Given the description of an element on the screen output the (x, y) to click on. 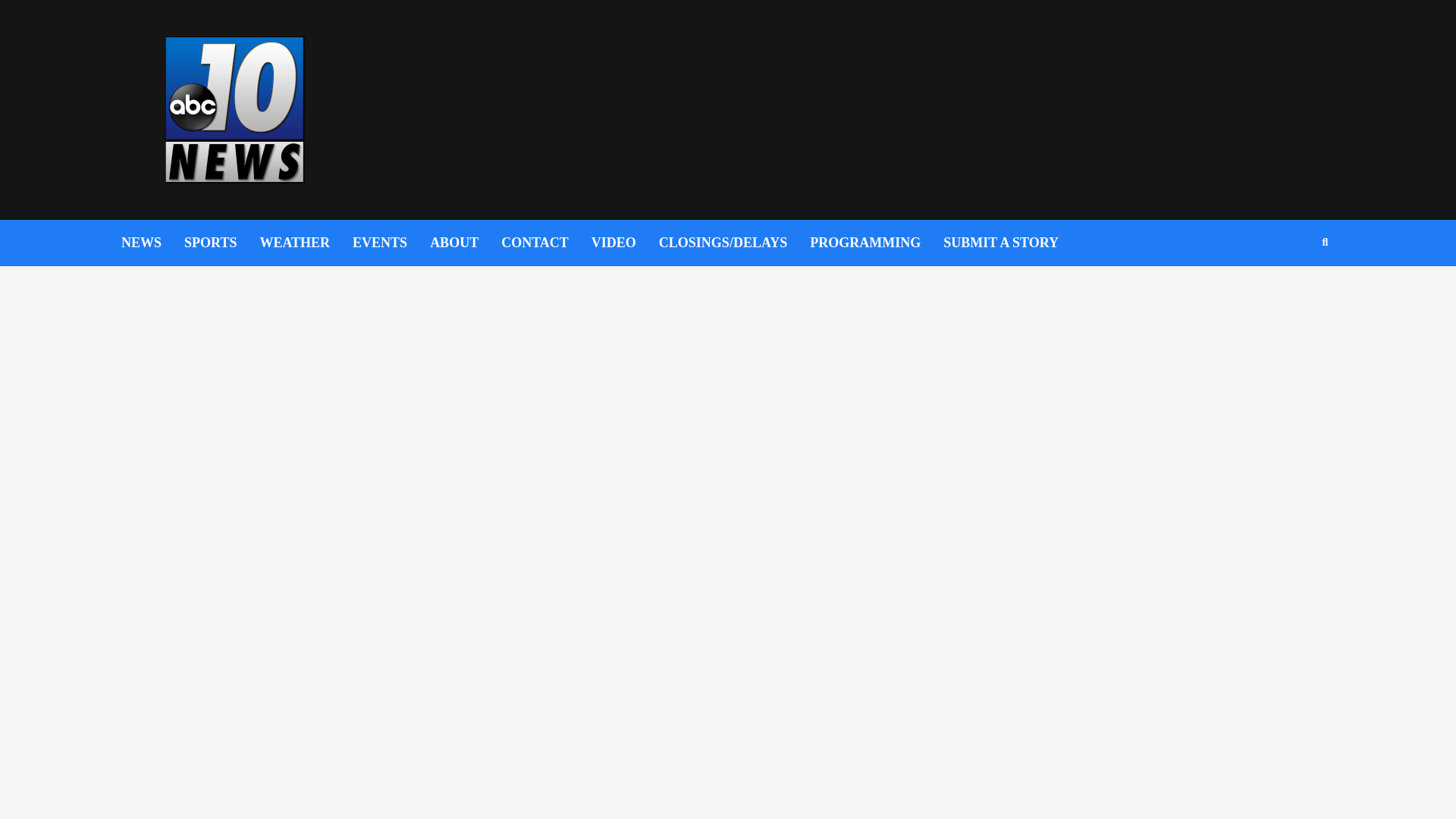
NEWS (152, 243)
PROGRAMMING (876, 243)
CONTACT (545, 243)
VIDEO (625, 243)
SPORTS (221, 243)
WEATHER (305, 243)
EVENTS (390, 243)
ABOUT (464, 243)
Search (1289, 291)
SUBMIT A STORY (1012, 243)
